Given the description of an element on the screen output the (x, y) to click on. 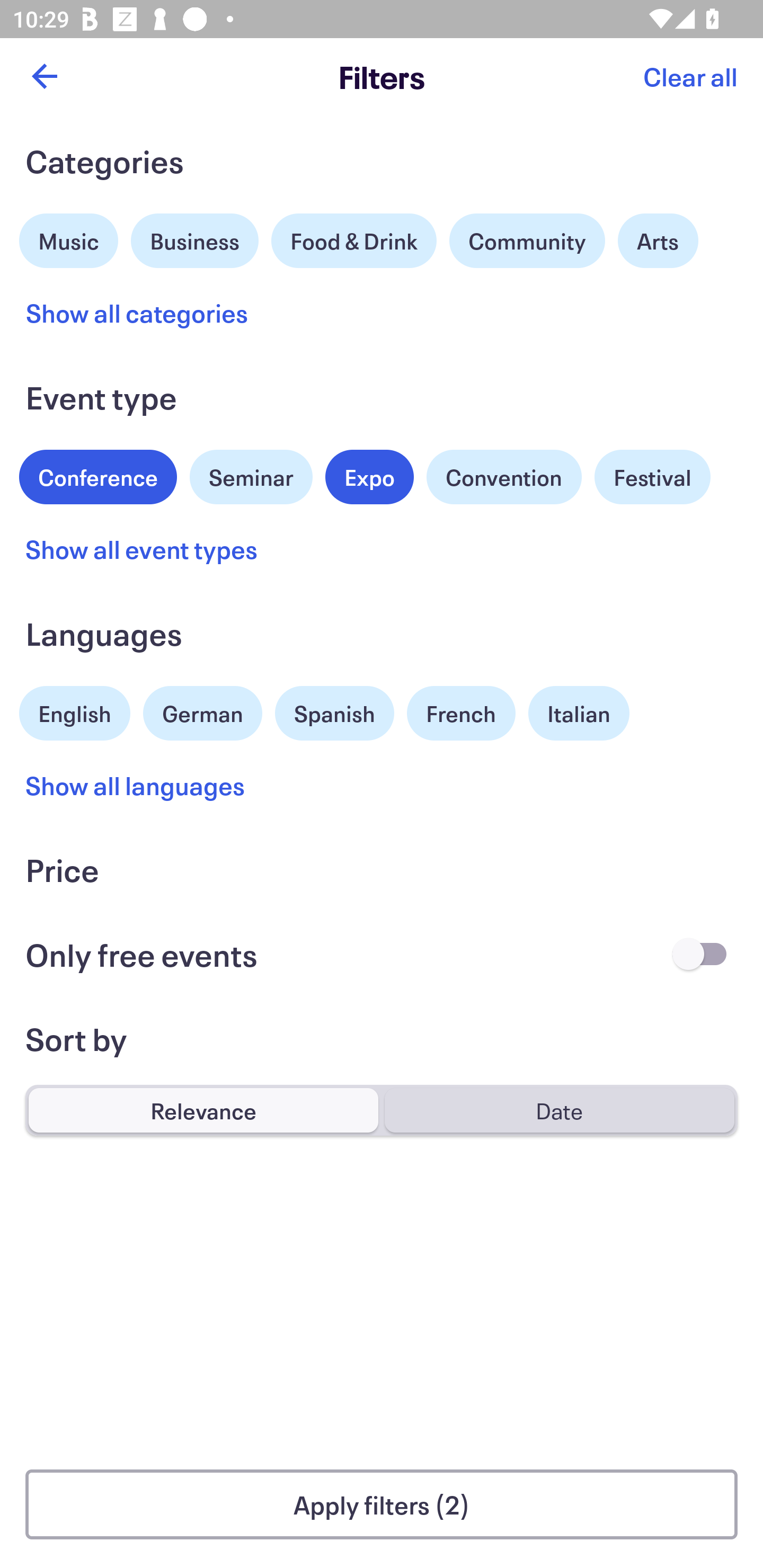
Back button (44, 75)
Clear all (690, 75)
Music (68, 238)
Business (194, 238)
Food & Drink (353, 240)
Community (527, 240)
Arts (658, 240)
Show all categories (136, 312)
Conference (98, 475)
Seminar (250, 477)
Expo (369, 477)
Convention (503, 477)
Festival (652, 477)
Show all event types (141, 548)
English (74, 710)
German (202, 710)
Spanish (334, 713)
French (460, 713)
Italian (578, 713)
Show all languages (135, 784)
Relevance (203, 1109)
Date (559, 1109)
Apply filters (2) (381, 1504)
